Given the description of an element on the screen output the (x, y) to click on. 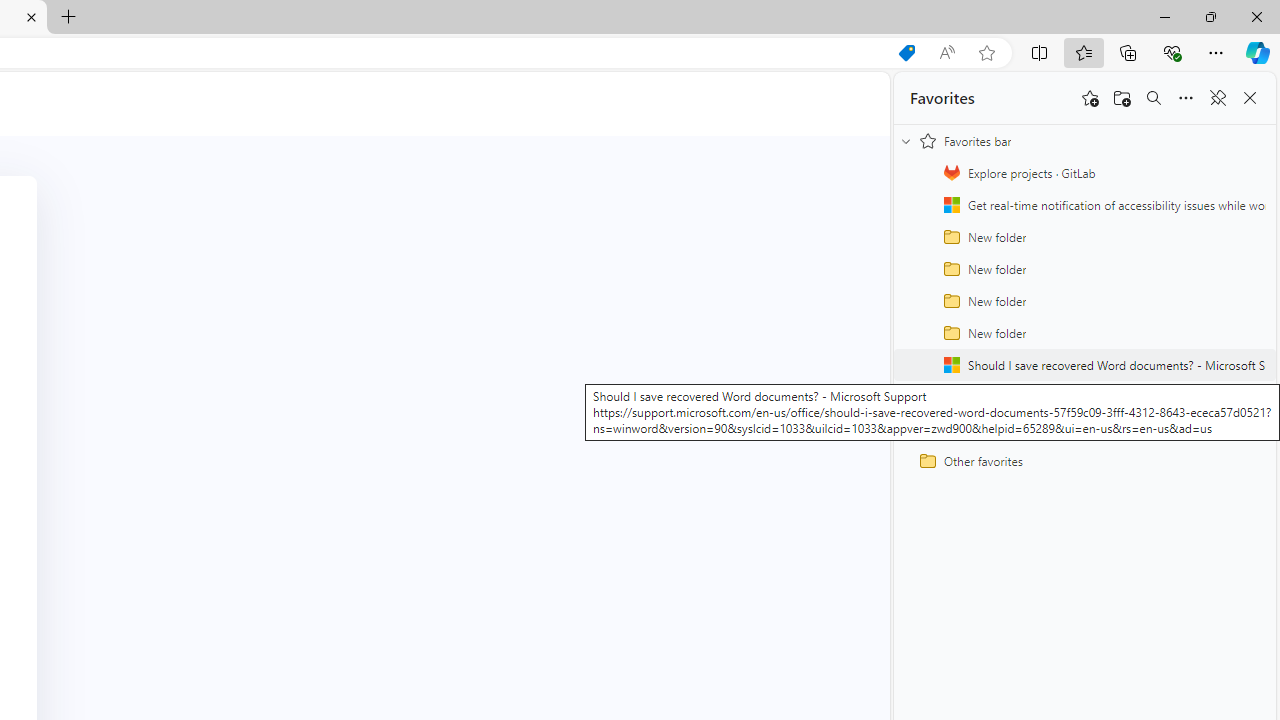
Search favorites (1153, 98)
Unpin favorites (1217, 98)
